Given the description of an element on the screen output the (x, y) to click on. 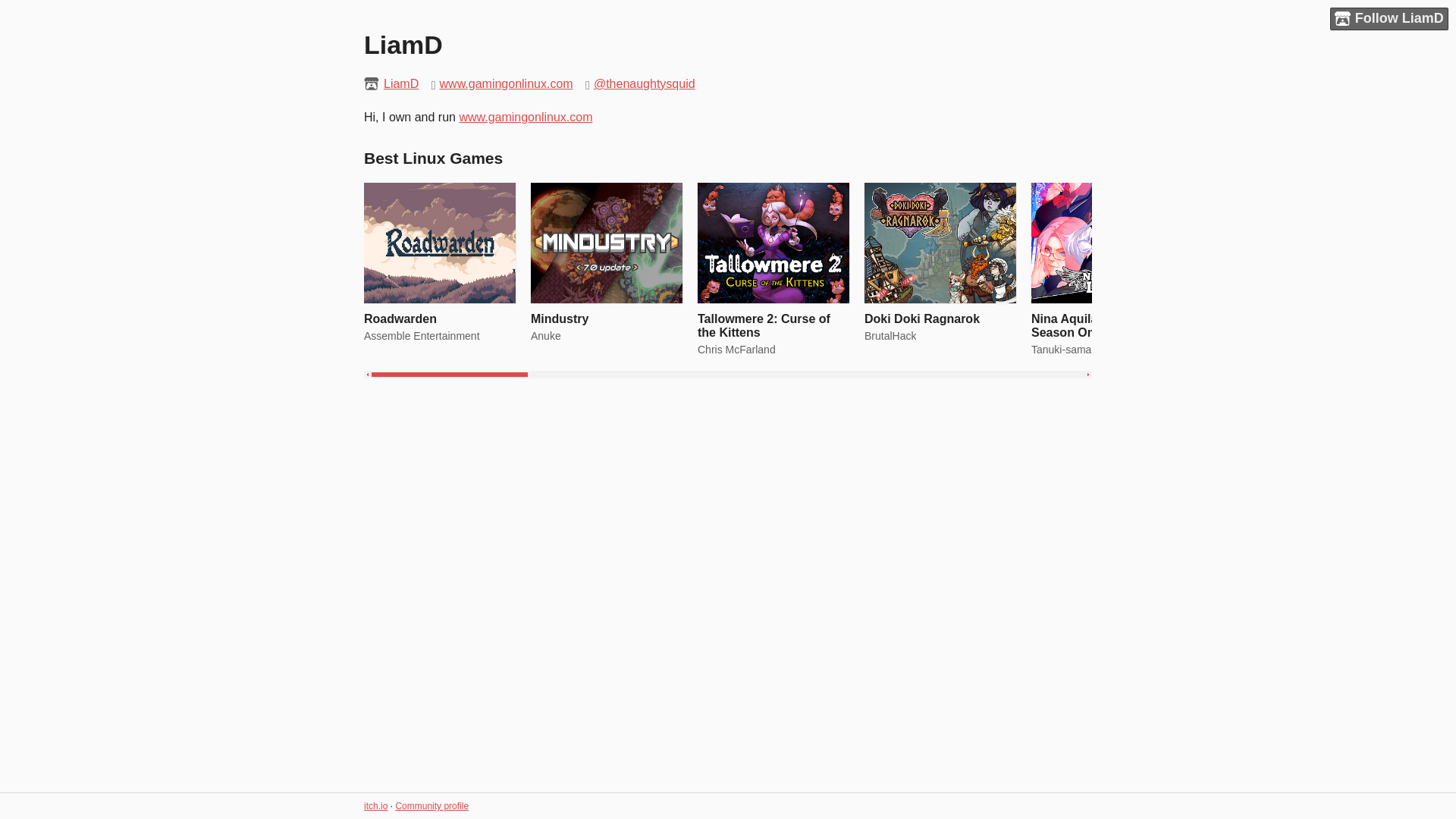
Mindustry (559, 318)
www.gamingonlinux.com (506, 83)
Roadwarden (400, 318)
Chris McFarland (736, 349)
Anuke (545, 336)
BrutalHack (889, 336)
8BitSkull (1218, 336)
Death Trash (1399, 318)
Tallowmere 2: Curse of the Kittens (763, 325)
LiamD (401, 83)
